Given the description of an element on the screen output the (x, y) to click on. 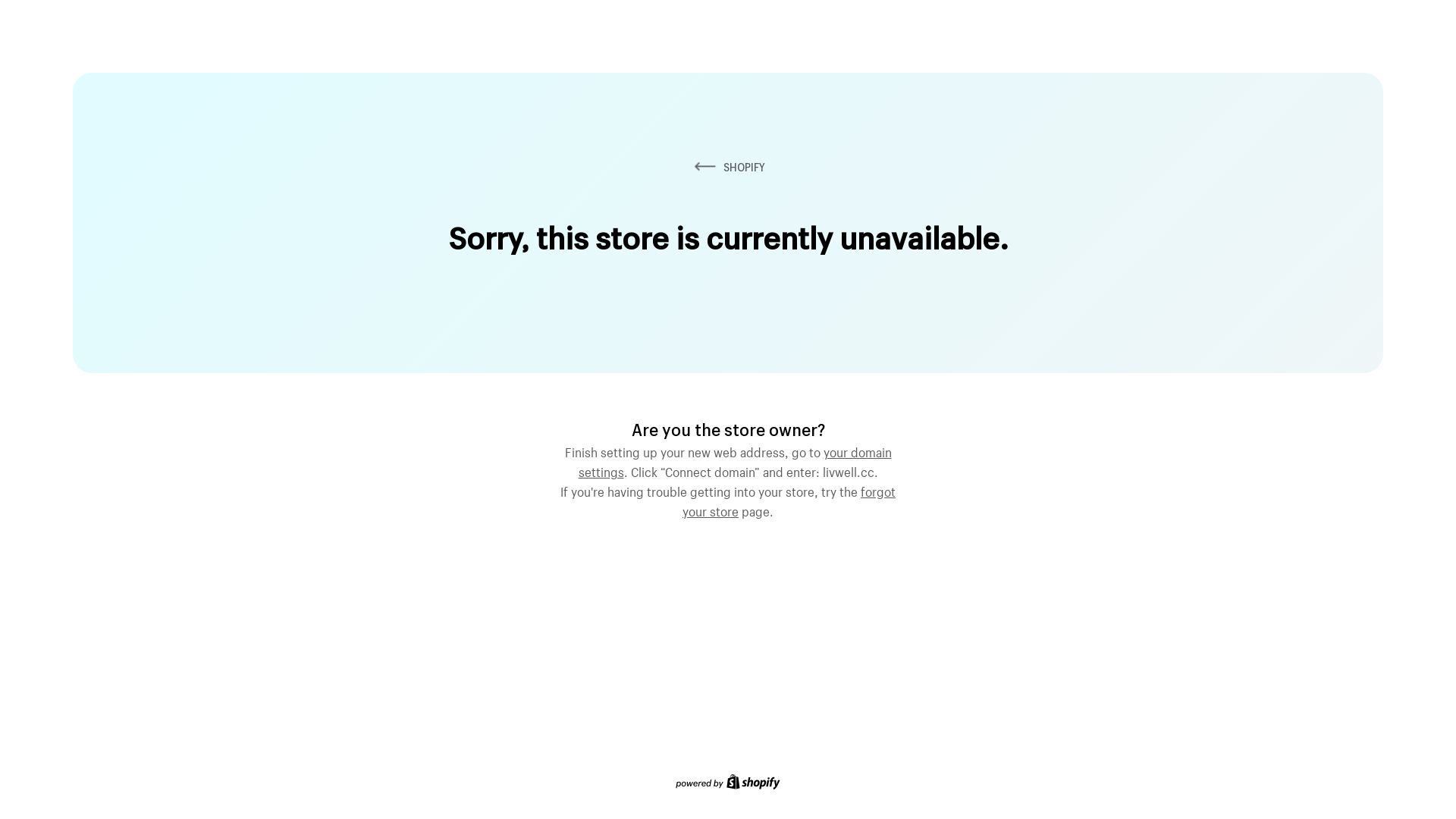
forgot your store Element type: text (788, 499)
SHOPIFY Element type: text (727, 167)
your domain settings Element type: text (734, 460)
